Given the description of an element on the screen output the (x, y) to click on. 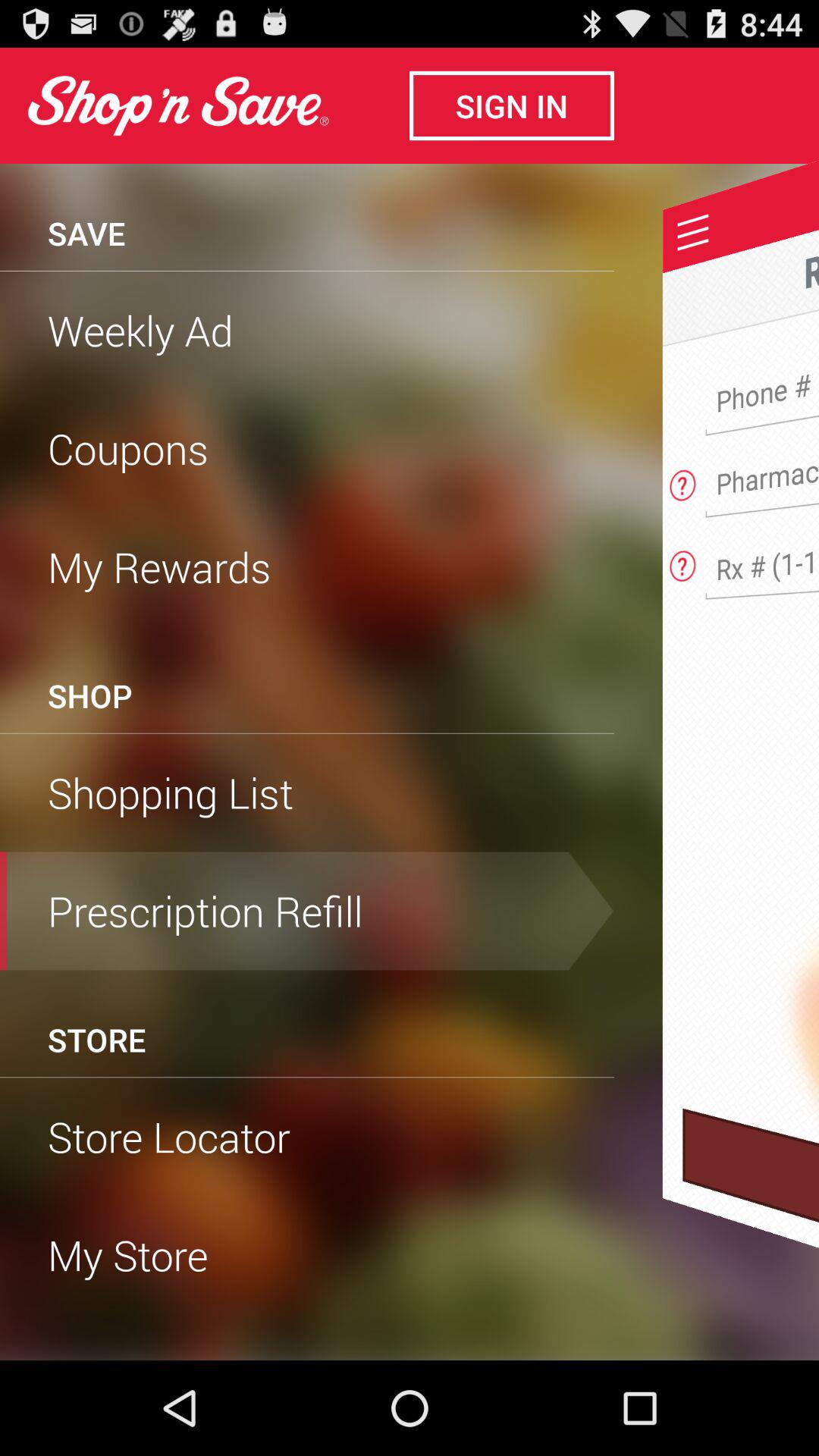
help and questions (682, 561)
